Given the description of an element on the screen output the (x, y) to click on. 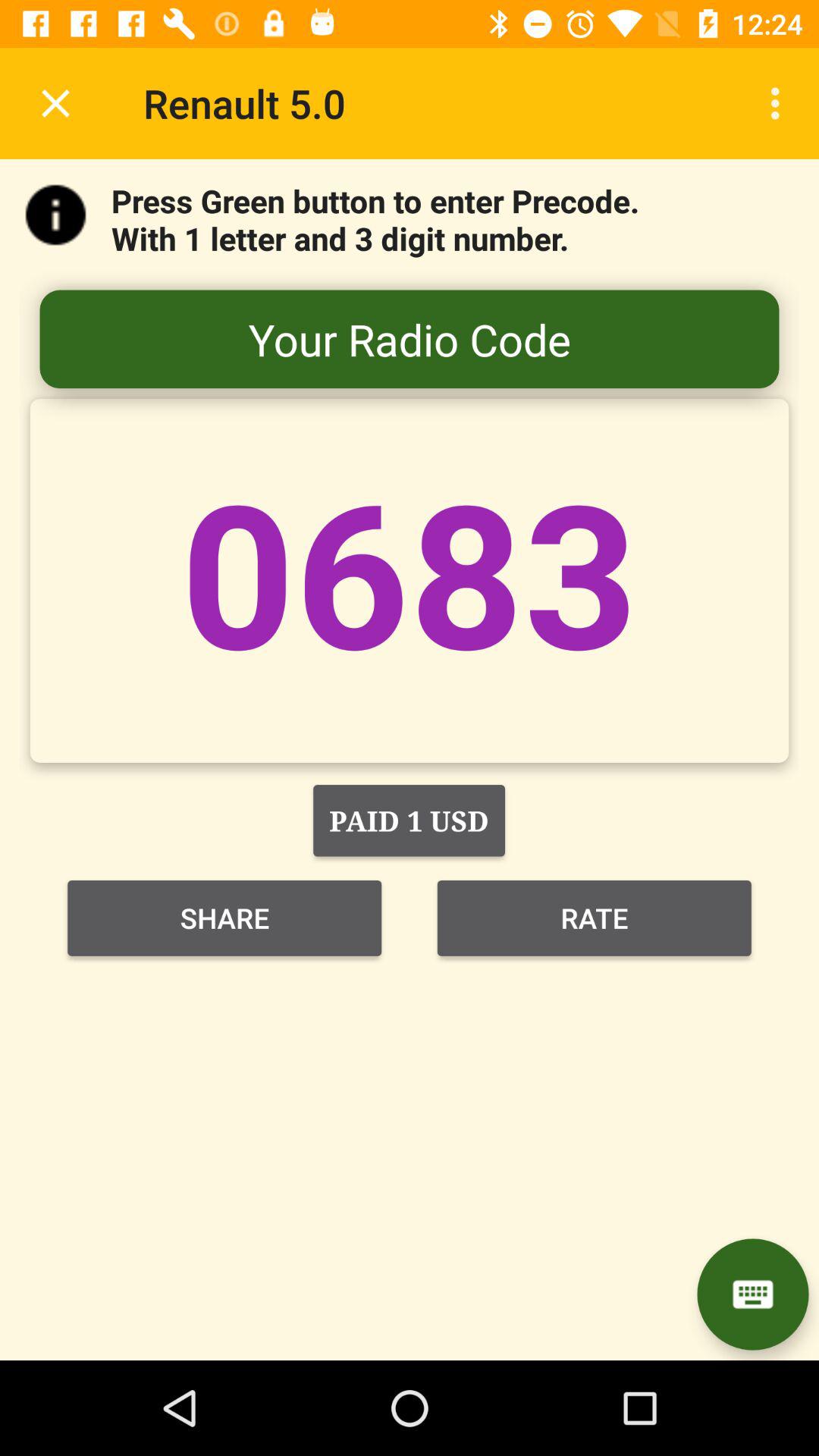
turn on item below 0683 item (409, 820)
